Given the description of an element on the screen output the (x, y) to click on. 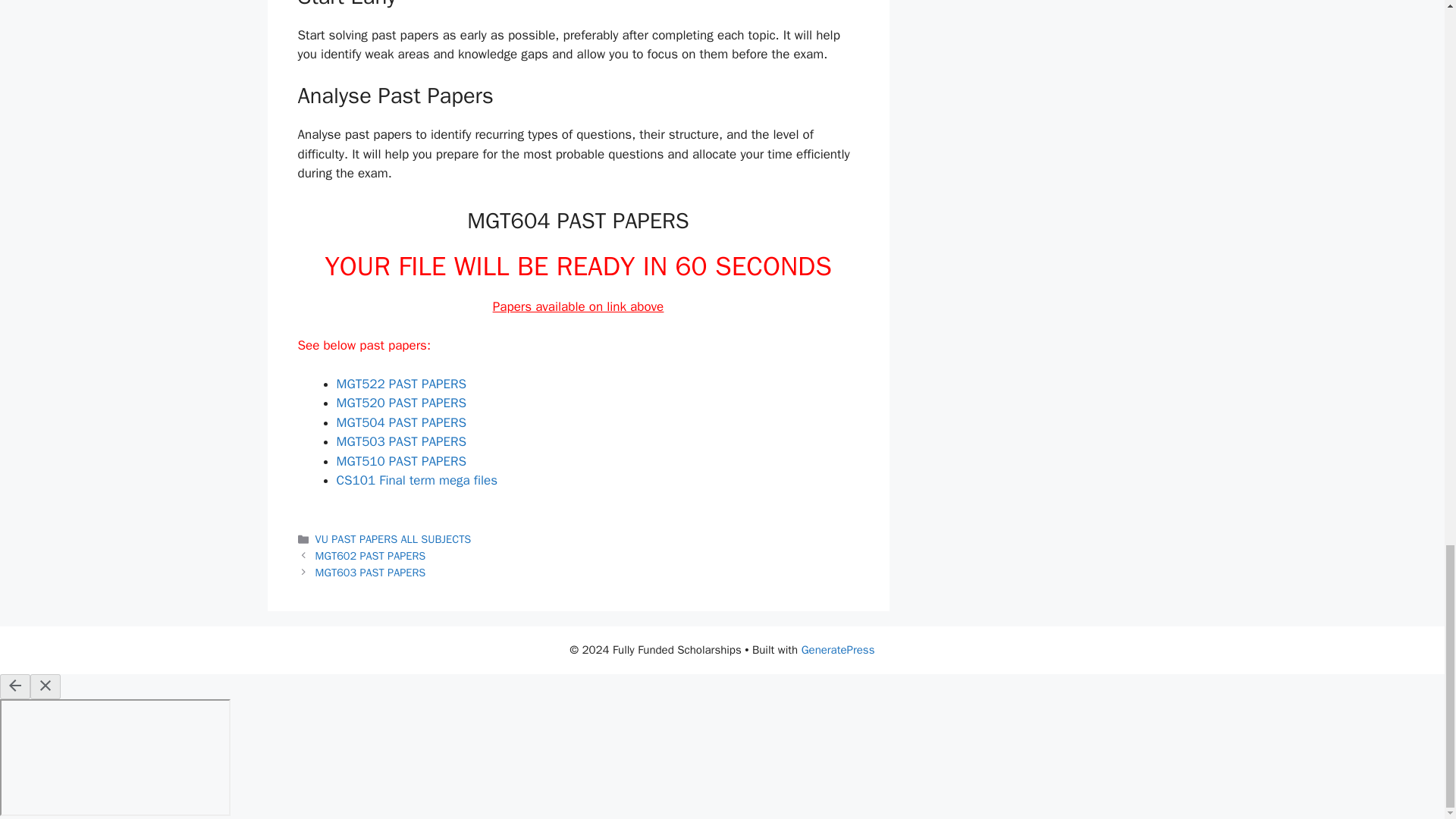
MGT520 PAST PAPERS (401, 402)
MGT602 PAST PAPERS (370, 555)
VU PAST PAPERS ALL SUBJECTS (393, 539)
MGT603 PAST PAPERS (370, 572)
CS101 Final term mega files (416, 480)
MGT522 PAST PAPERS (401, 383)
MGT510 PAST PAPERS (401, 461)
MGT503 PAST PAPERS (401, 441)
MGT504 PAST PAPERS (401, 422)
